Given the description of an element on the screen output the (x, y) to click on. 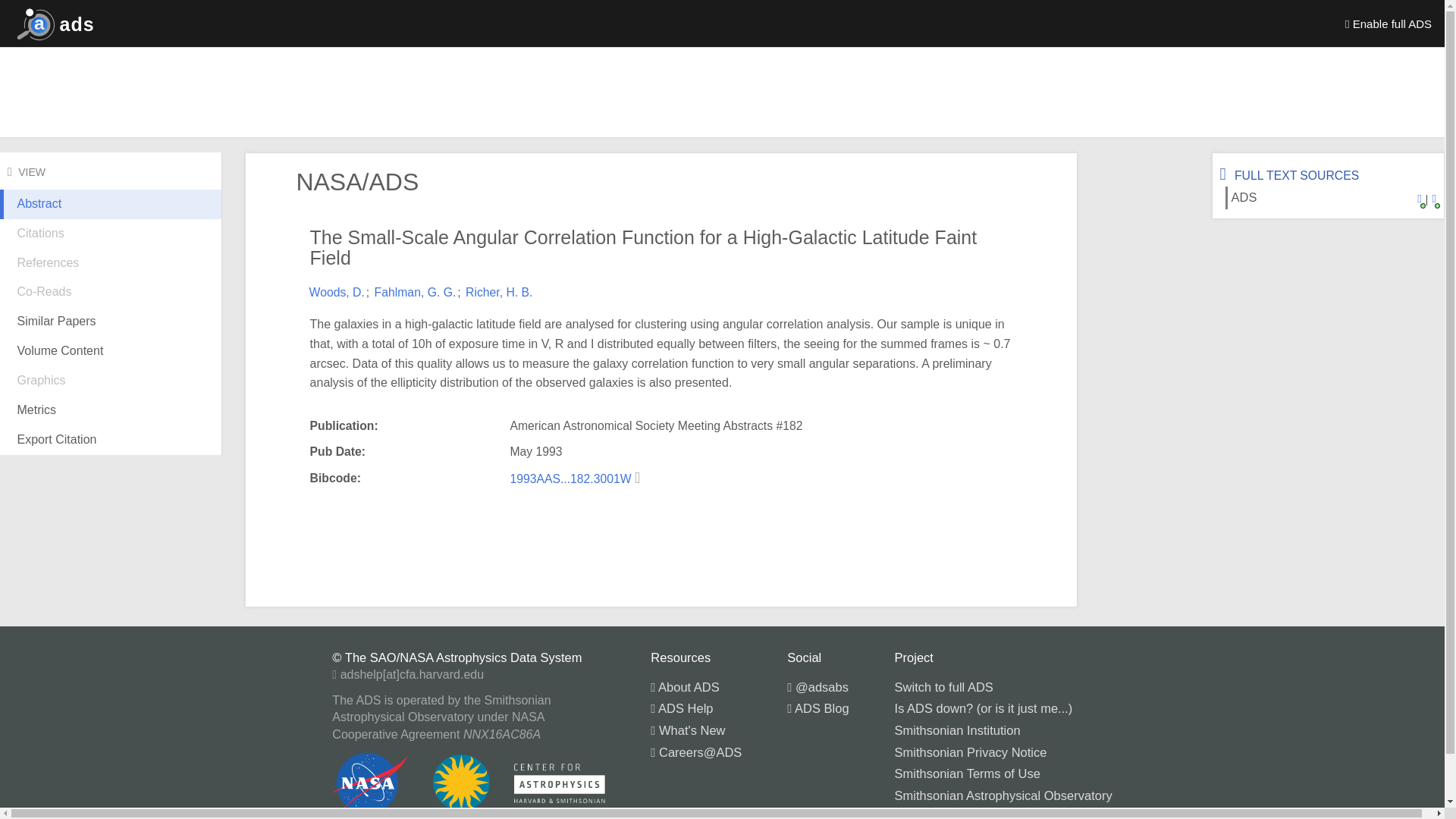
Smithsonian Terms of Use (968, 773)
Switch to full ADS (943, 686)
Abstract (110, 215)
Volume Content (110, 351)
Fahlman, G. G. (415, 291)
Similar Papers (110, 321)
Harvard Center for Astrophysics logo (559, 782)
Smithsonian Privacy Notice (970, 752)
Richer, H. B. (498, 291)
What's New (687, 730)
Smithsonian Institution (957, 730)
Metrics (110, 410)
Smithsonian Astrophysical Observatory (1003, 795)
Woods, D. (336, 291)
Enable full ADS (1388, 23)
